Given the description of an element on the screen output the (x, y) to click on. 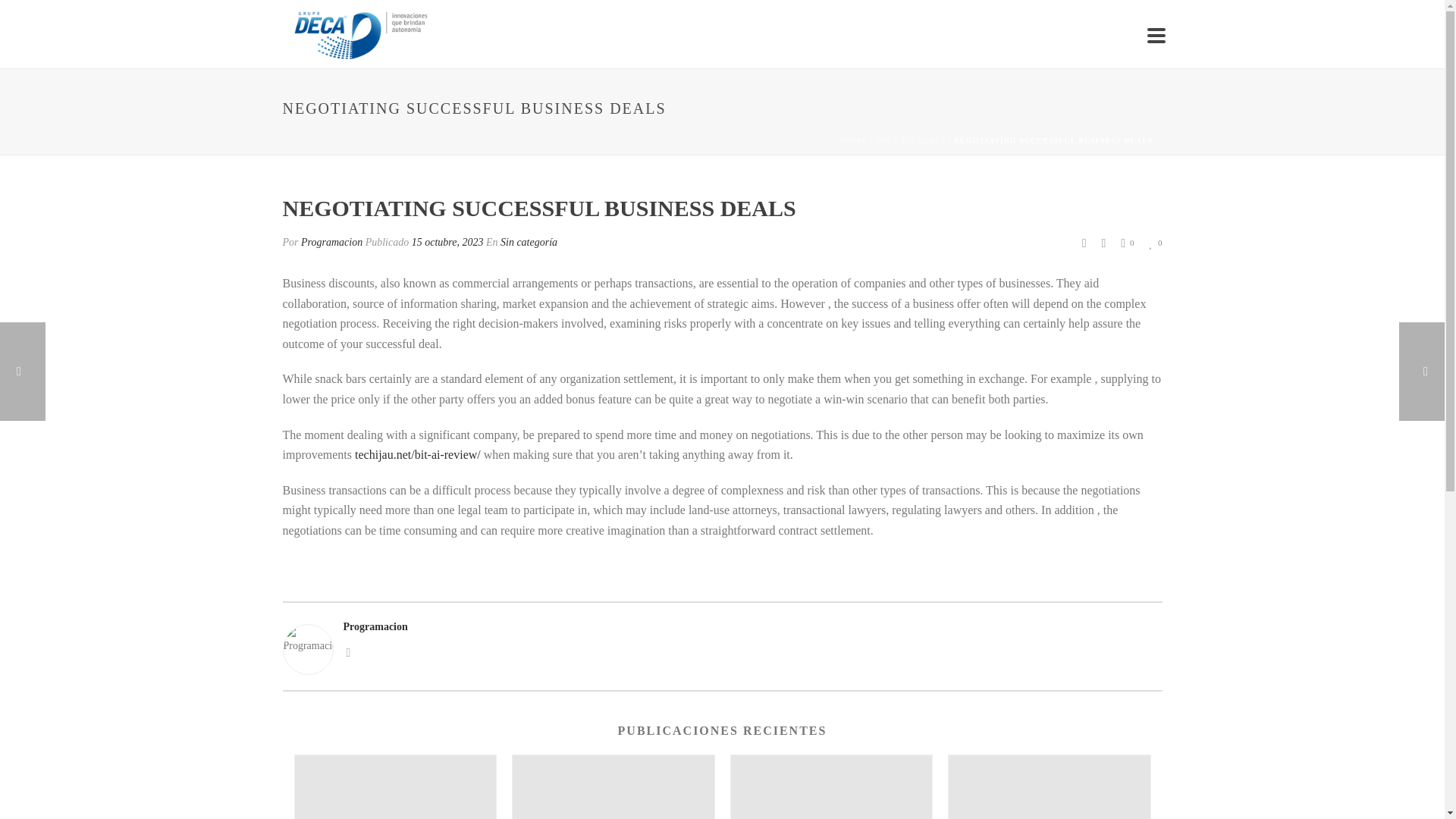
Top 10 YouTube Clips About Plinko wahrscheinlichkeit (395, 787)
Entradas de Programacion (331, 242)
Programacion (721, 626)
Programacion (331, 242)
15 octubre, 2023 (447, 242)
HOME (853, 140)
  0 (1154, 242)
